Given the description of an element on the screen output the (x, y) to click on. 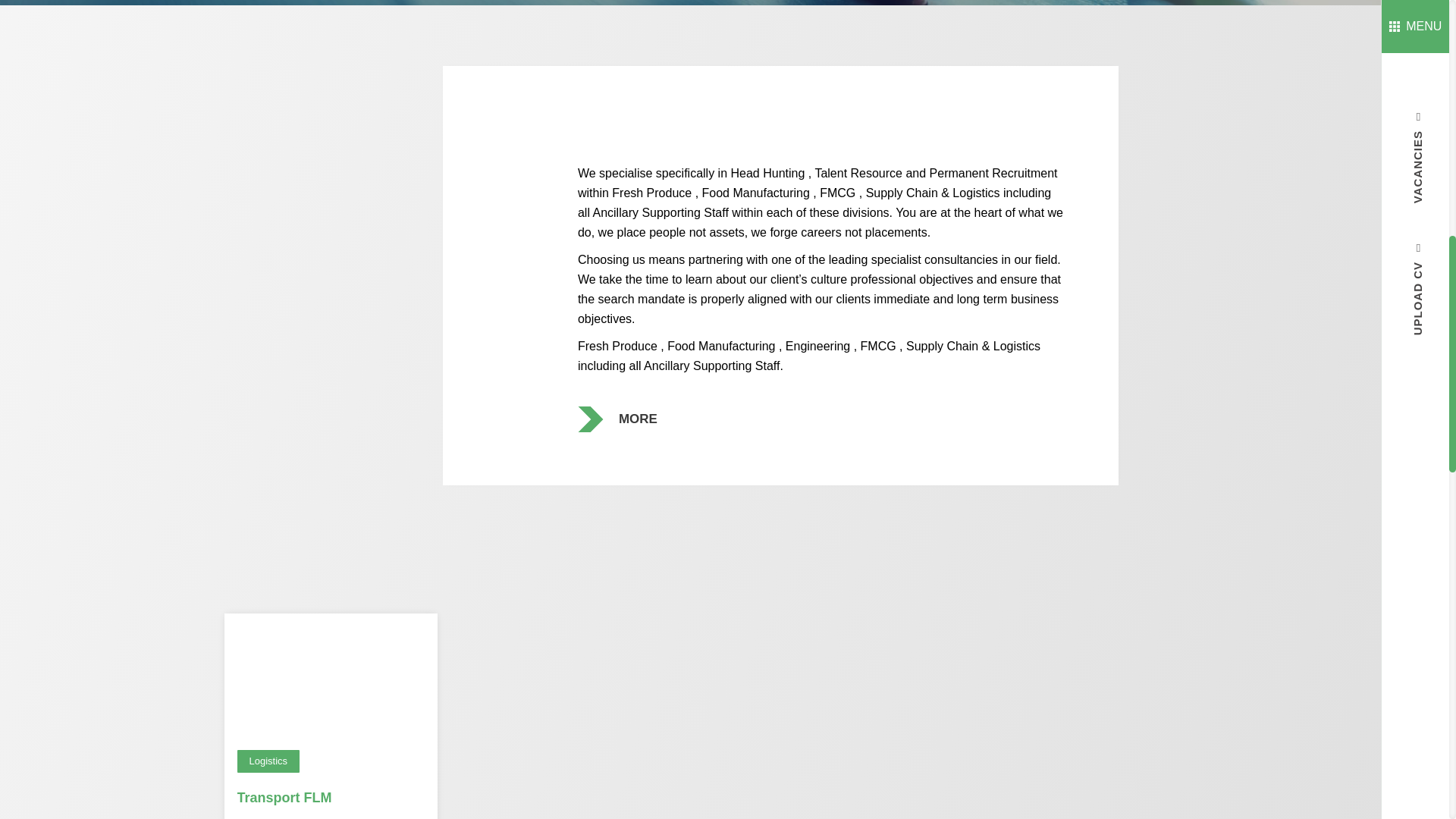
Transport FLM (283, 797)
MORE (638, 418)
